Given the description of an element on the screen output the (x, y) to click on. 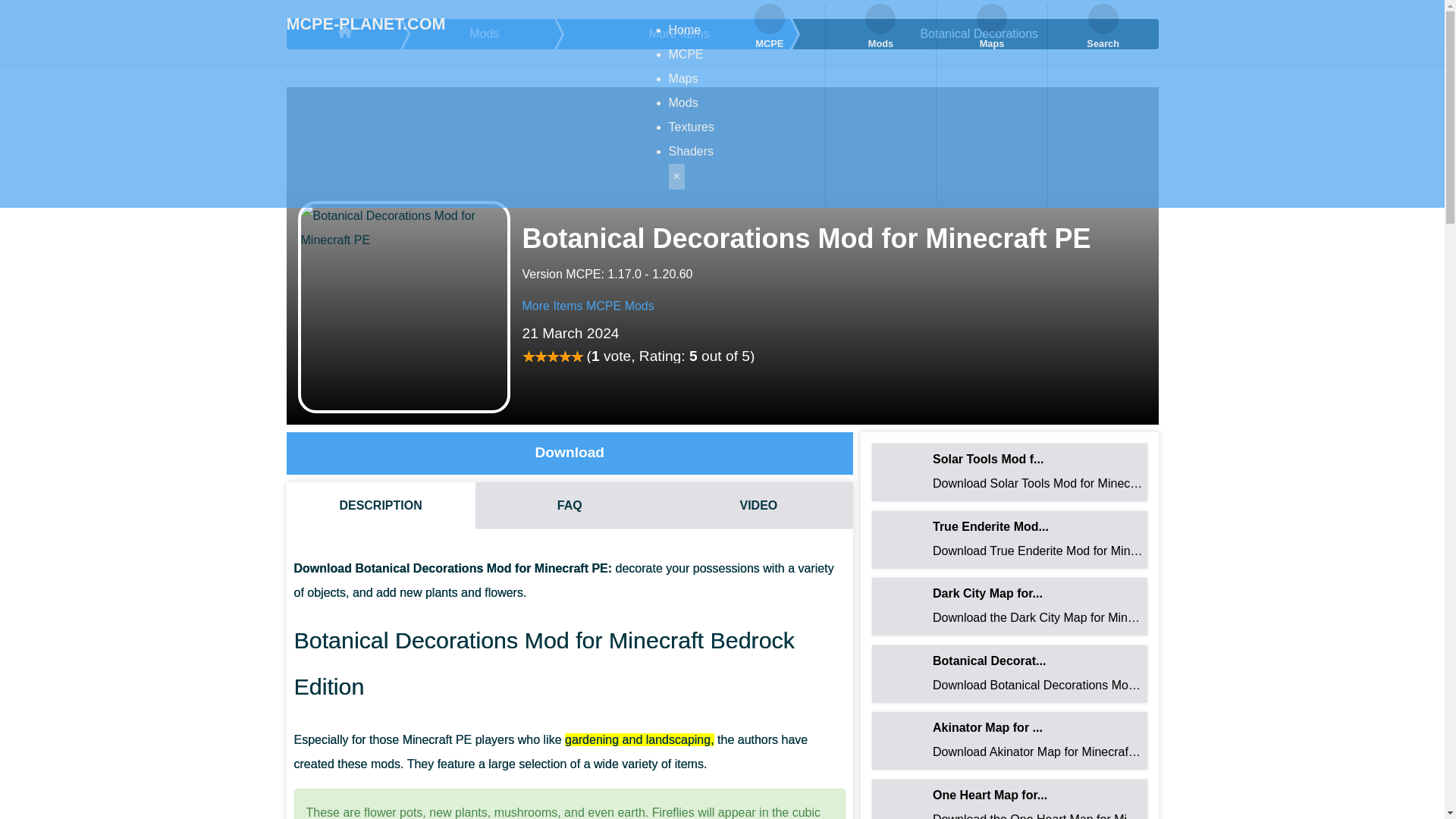
Dark City Map for Minecraft PE (1009, 606)
Shaders (691, 151)
Download (569, 453)
More Items (681, 33)
More Items MCPE Mods (587, 305)
MCPE (685, 53)
MCPE-PLANET.COM (365, 23)
Mods (683, 102)
Akinator Map for Minecraft PE (1009, 740)
More Items MCPE Mods (587, 305)
One Heart Map for Minecraft PE (1009, 799)
Solar Tools Mod for Minecraft PE (1009, 472)
